Given the description of an element on the screen output the (x, y) to click on. 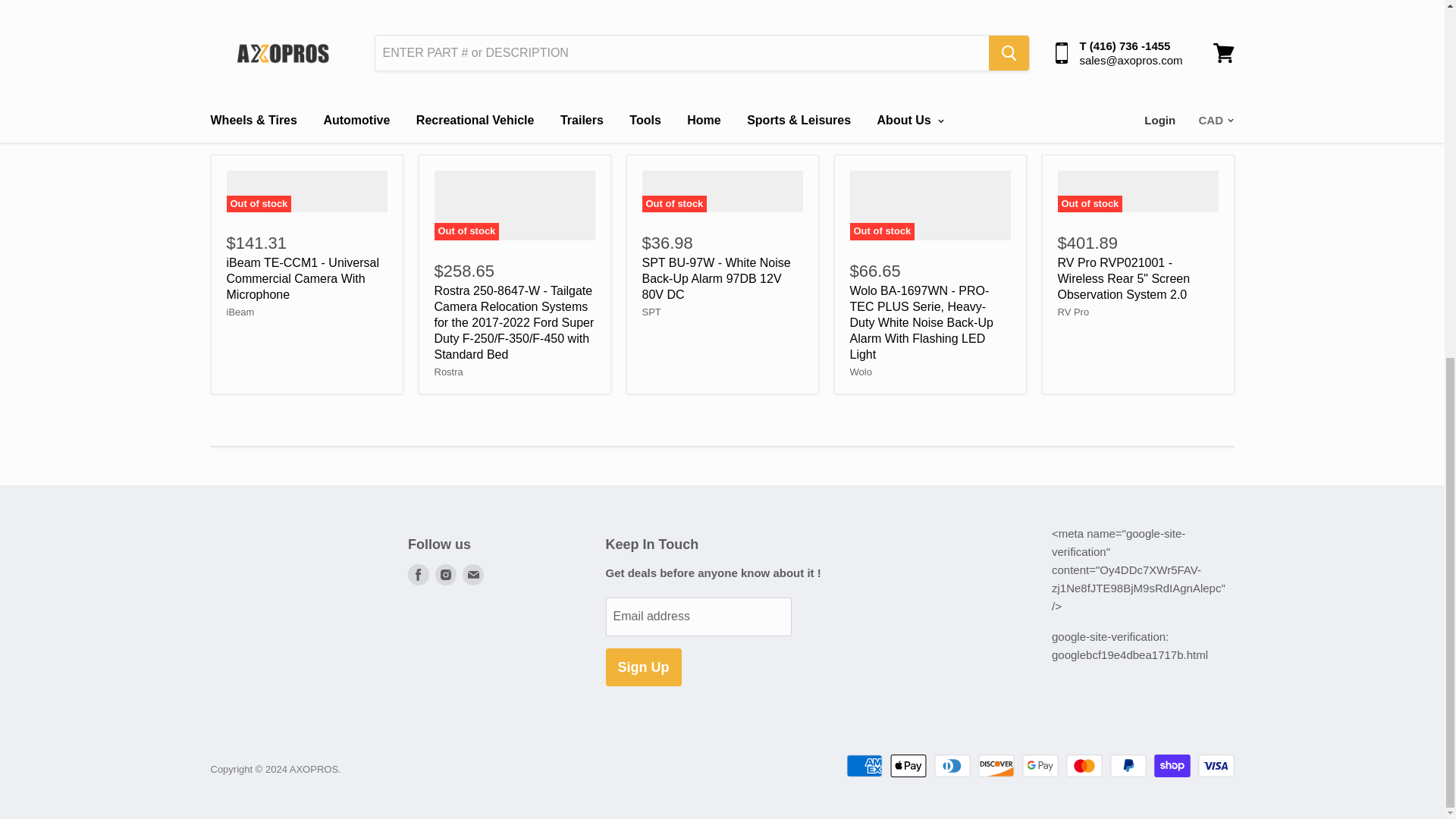
E-mail (473, 574)
Instagram (446, 574)
Shop Pay (1172, 765)
Google Pay (1040, 765)
PayPal (1128, 765)
Apple Pay (907, 765)
Diners Club (952, 765)
American Express (863, 765)
Discover (996, 765)
Mastercard (1083, 765)
